Given the description of an element on the screen output the (x, y) to click on. 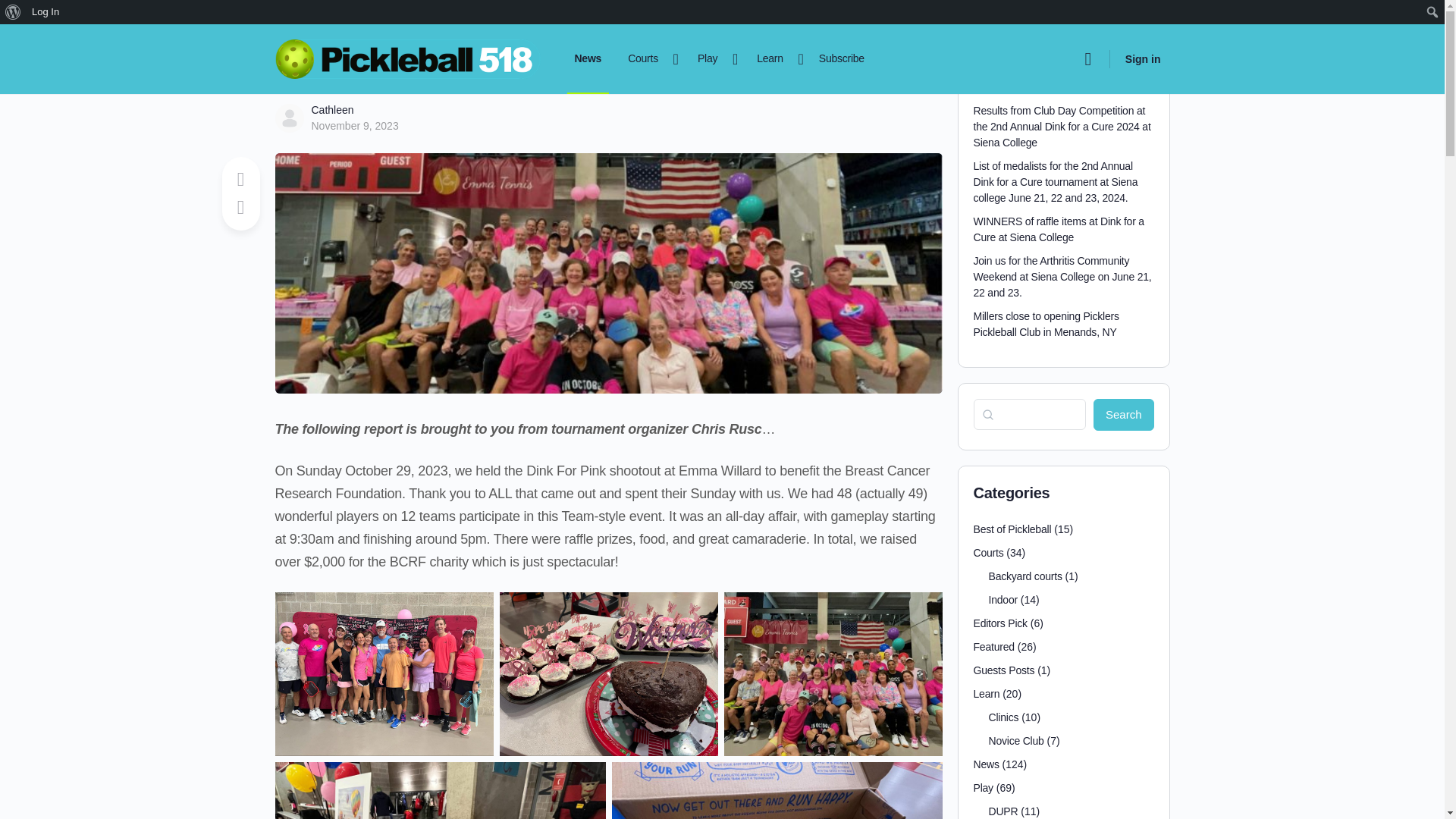
Subscribe (841, 59)
Sign in (1143, 58)
News (588, 59)
Courts (649, 59)
Play (714, 59)
Learn (776, 59)
Log In (45, 12)
Search (16, 12)
